Given the description of an element on the screen output the (x, y) to click on. 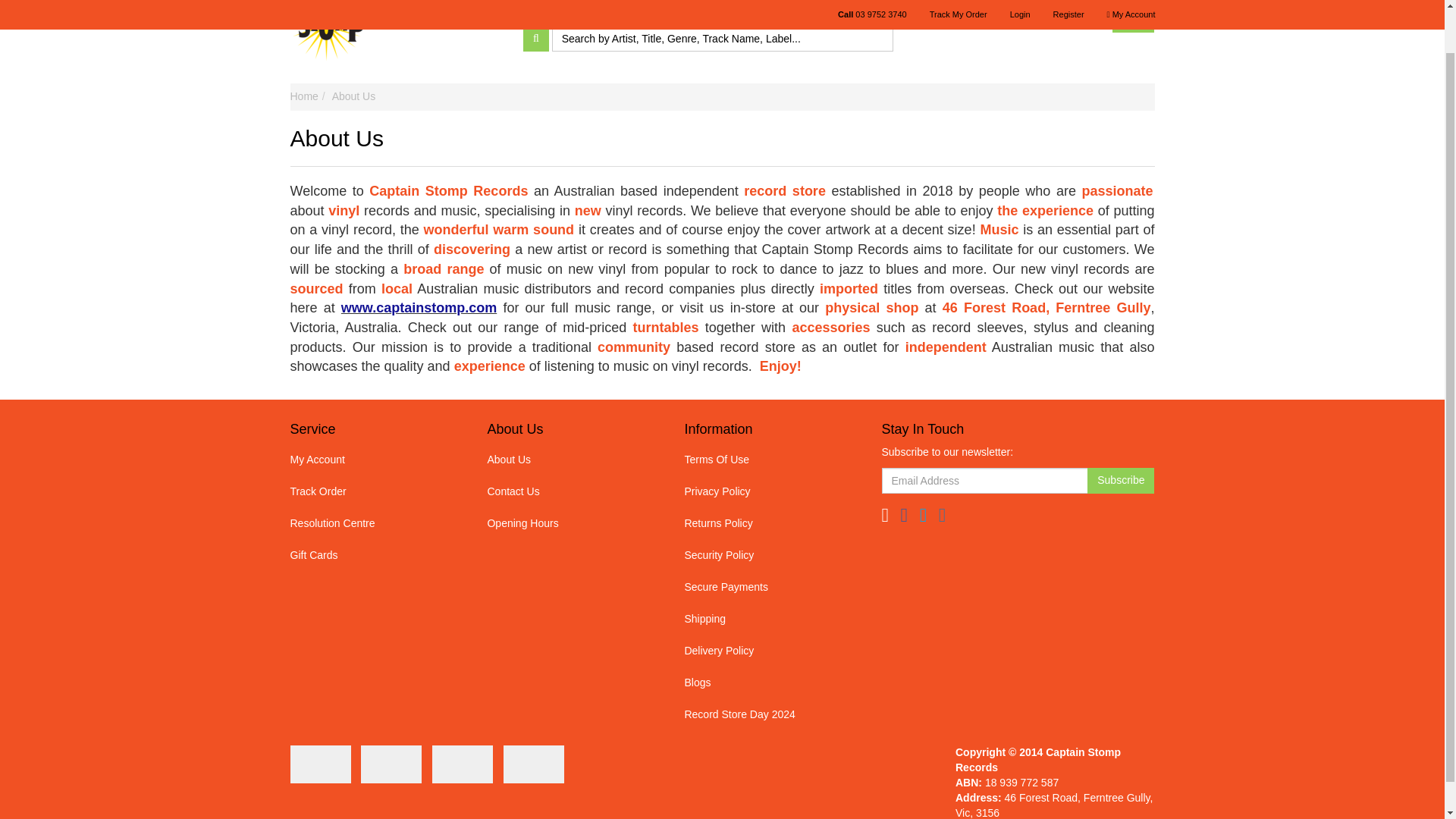
About Us (353, 96)
www.captainstomp.com (418, 307)
My Account (371, 460)
Record Store Day 2024 (578, 9)
Products (677, 9)
About Us (568, 460)
Subscribe (1120, 480)
Resolution Centre (371, 523)
Contact Us (797, 9)
Gift Cards (371, 555)
